Given the description of an element on the screen output the (x, y) to click on. 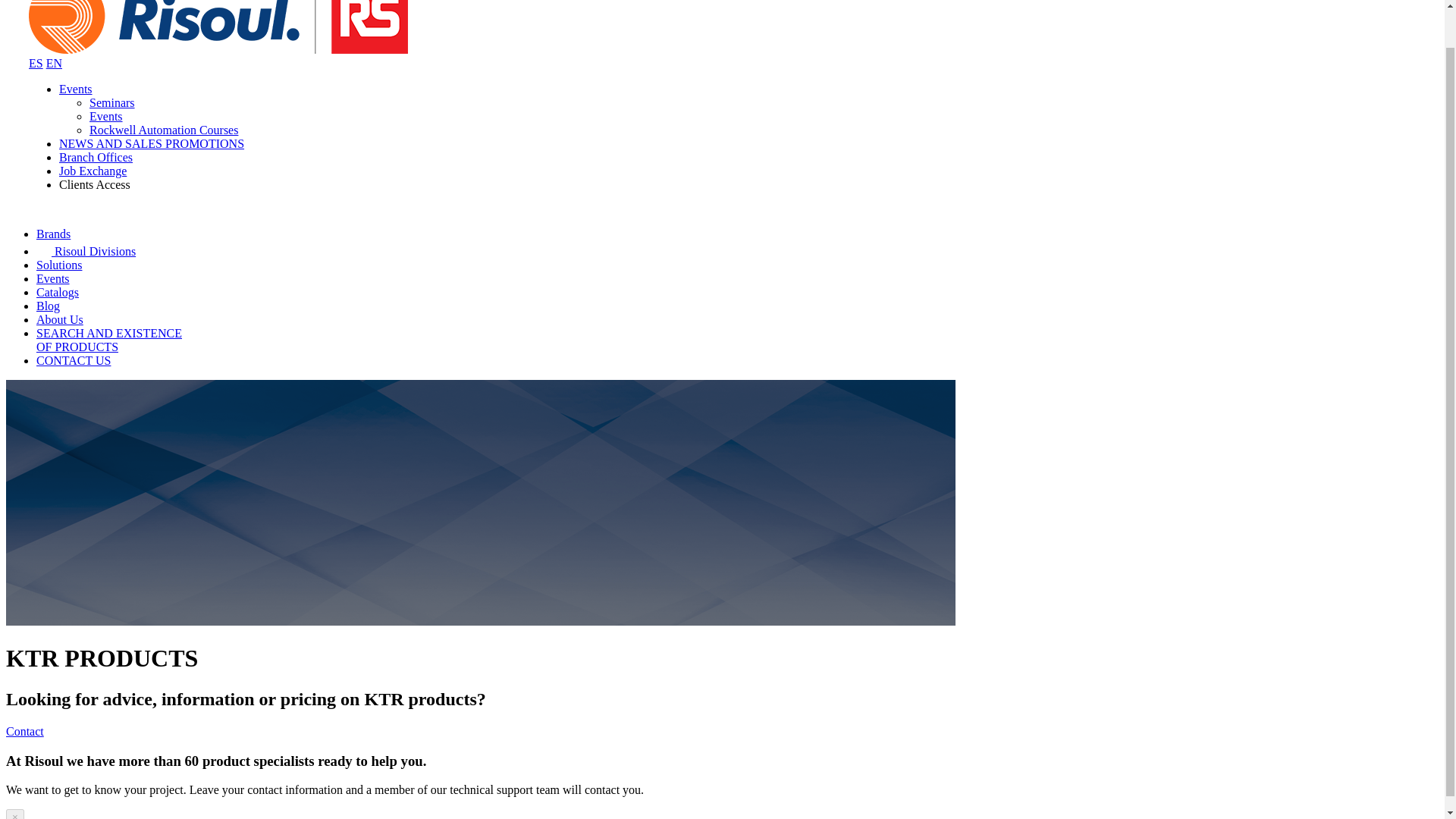
NEWS AND SALES PROMOTIONS (151, 143)
Rockwell Automation Courses (163, 129)
Catalogs (57, 291)
Risoul Divisions (85, 250)
logo-risoul-rs (218, 27)
ES (109, 339)
Solutions (36, 62)
About Us (58, 264)
Blog (59, 318)
